Given the description of an element on the screen output the (x, y) to click on. 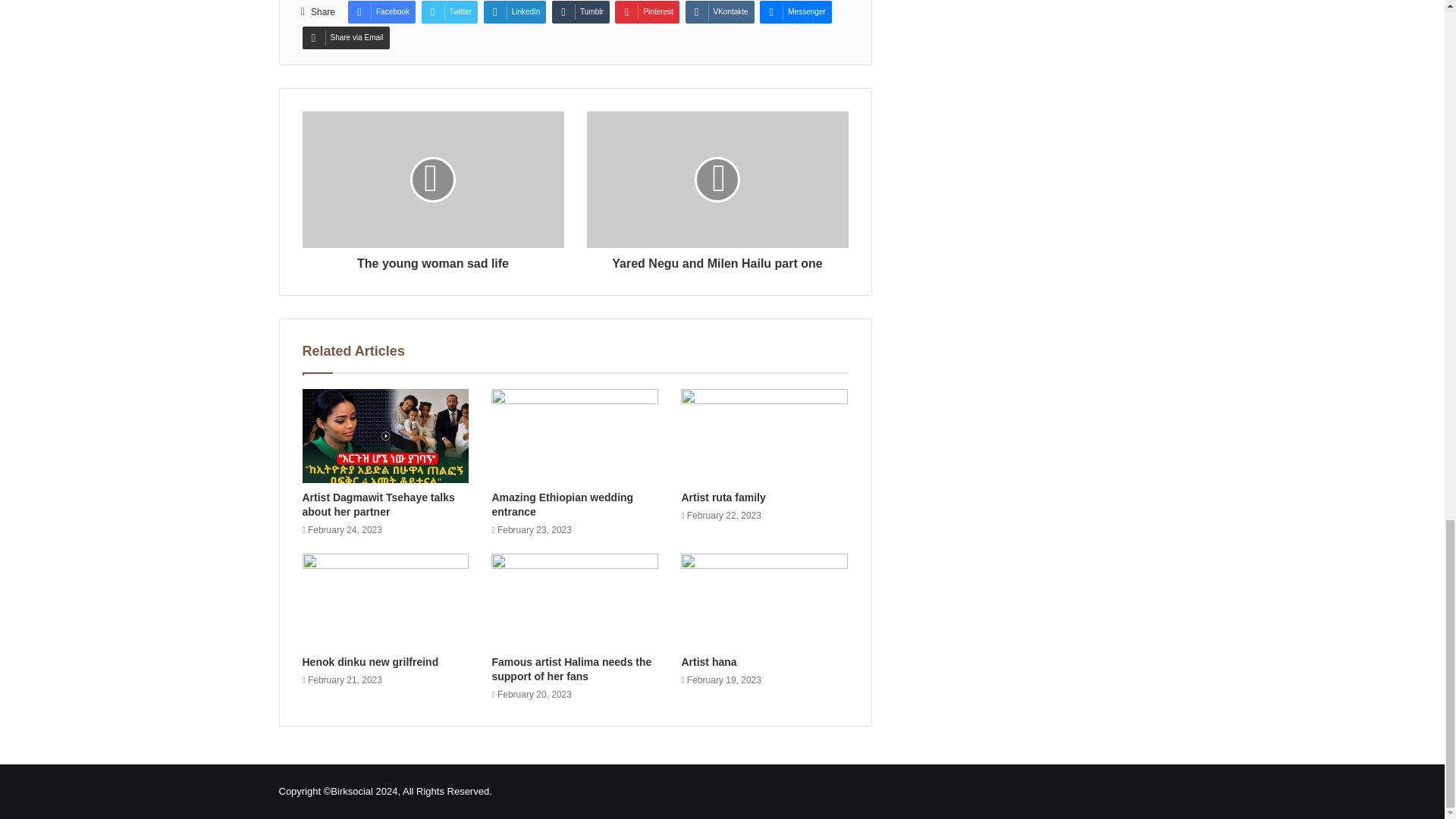
Tumblr (580, 11)
Twitter (449, 11)
Facebook (380, 11)
LinkedIn (515, 11)
Facebook (380, 11)
